Given the description of an element on the screen output the (x, y) to click on. 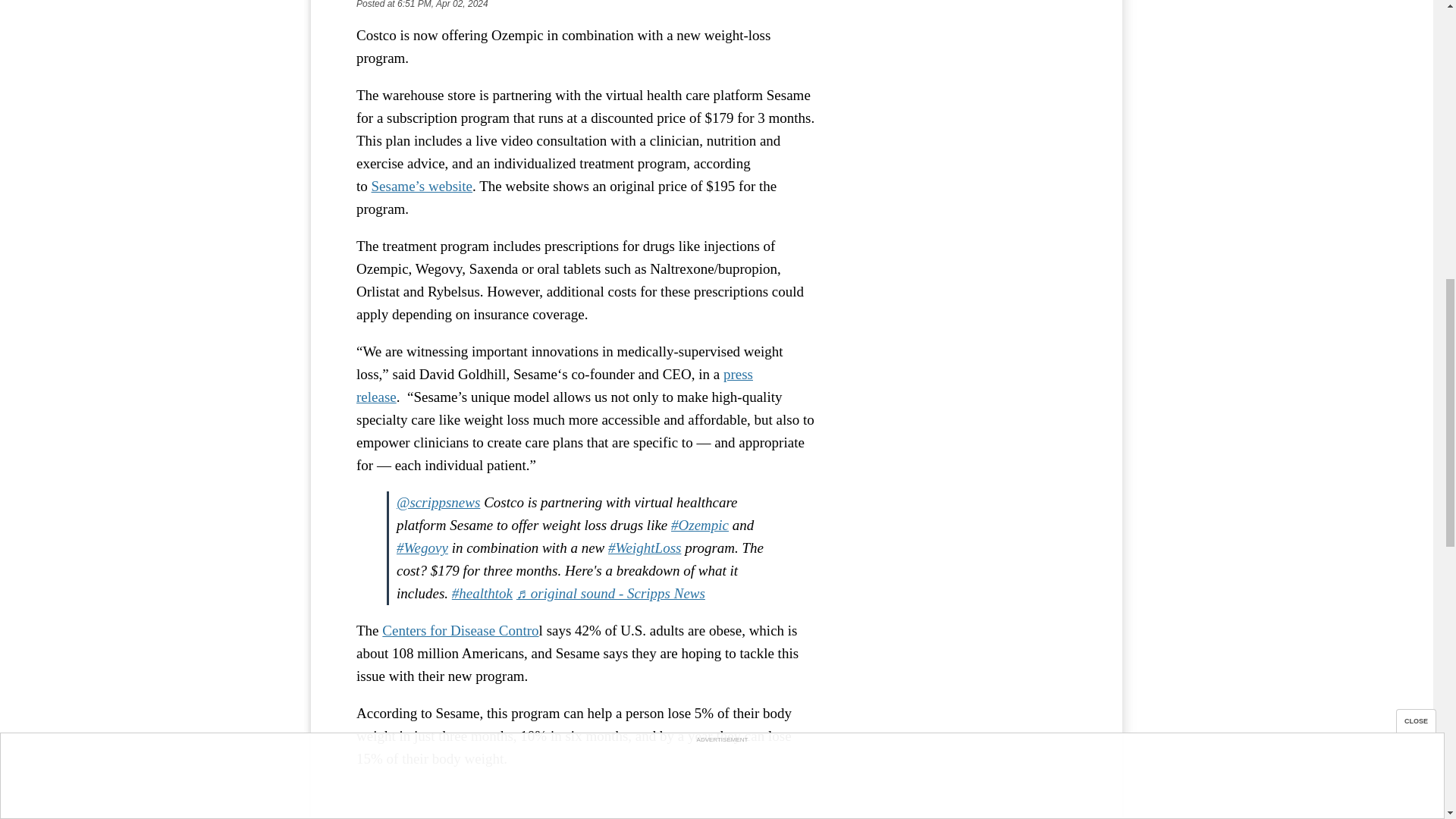
healthtok (481, 593)
ozempic (700, 524)
weightloss (644, 547)
wegovy (422, 547)
3rd party ad content (962, 18)
